Given the description of an element on the screen output the (x, y) to click on. 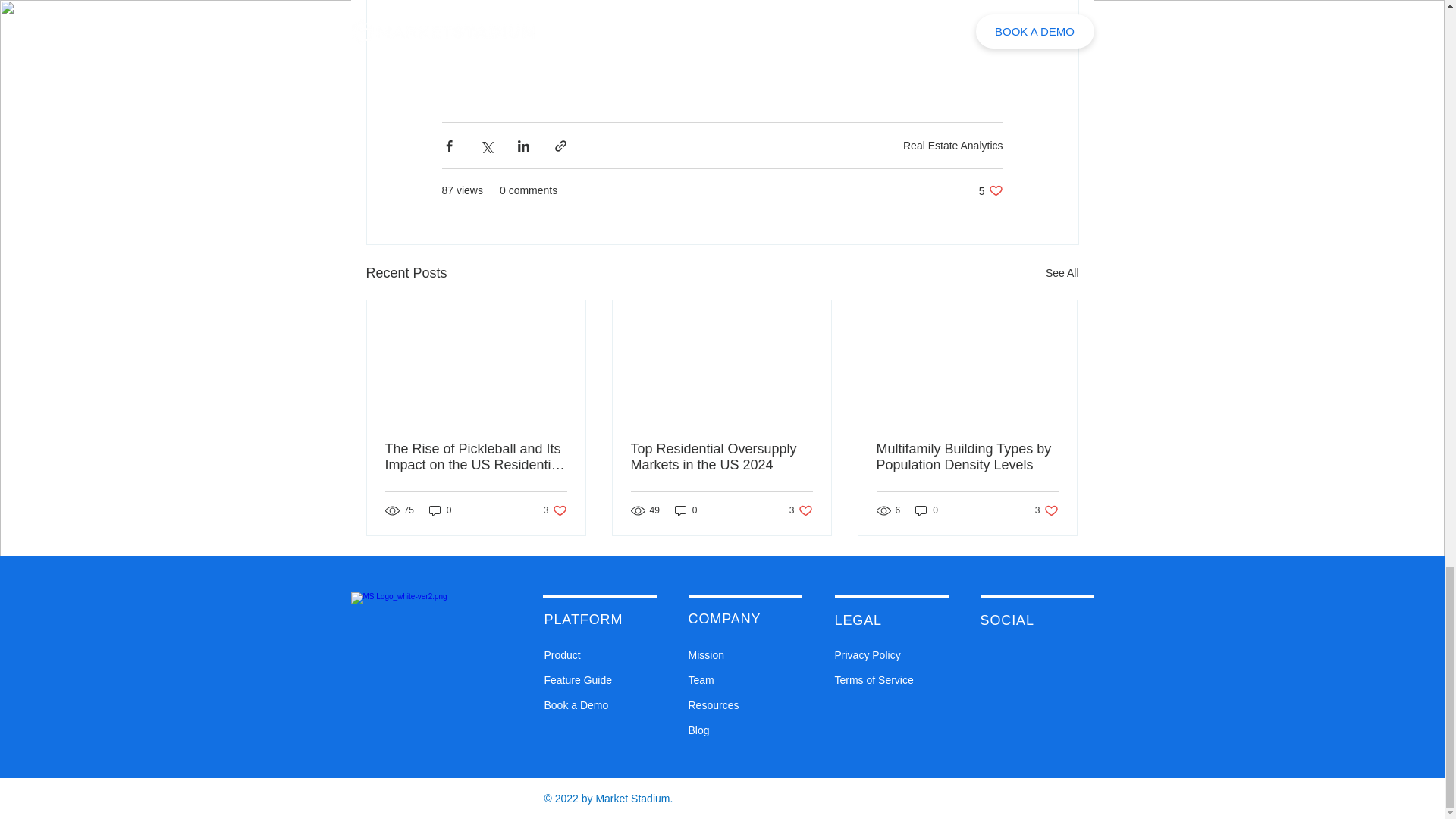
See All (1061, 273)
0 (800, 510)
Multifamily Building Types by Population Density Levels (440, 510)
Real Estate Analytics (967, 457)
0 (952, 145)
0 (685, 510)
Top Residential Oversupply Markets in the US 2024 (1046, 510)
